Given the description of an element on the screen output the (x, y) to click on. 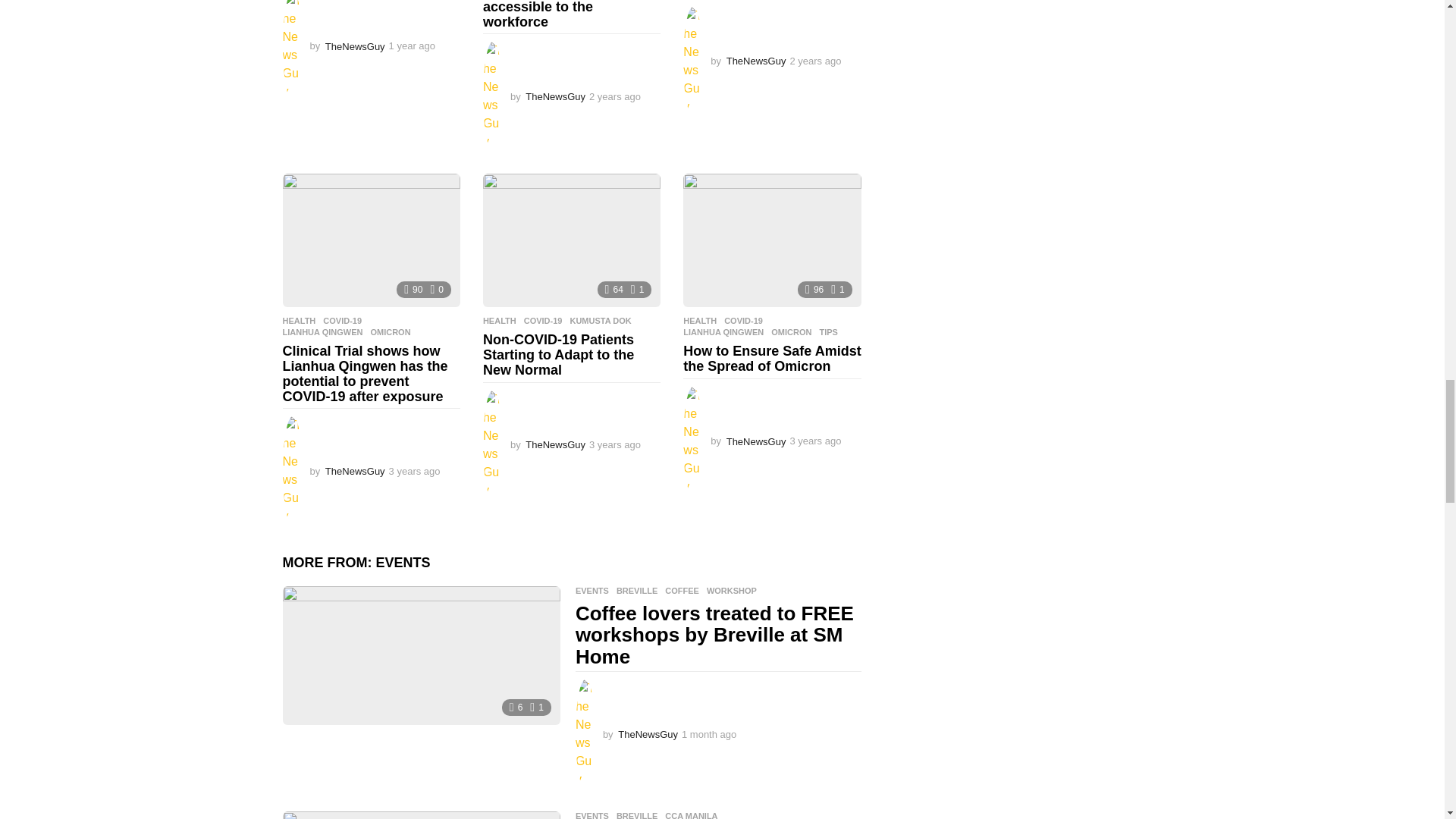
How to Ensure Safe Amidst the Spread of Omicron (771, 240)
Non-COVID-19 Patients Starting to Adapt to the New Normal (572, 240)
